Given the description of an element on the screen output the (x, y) to click on. 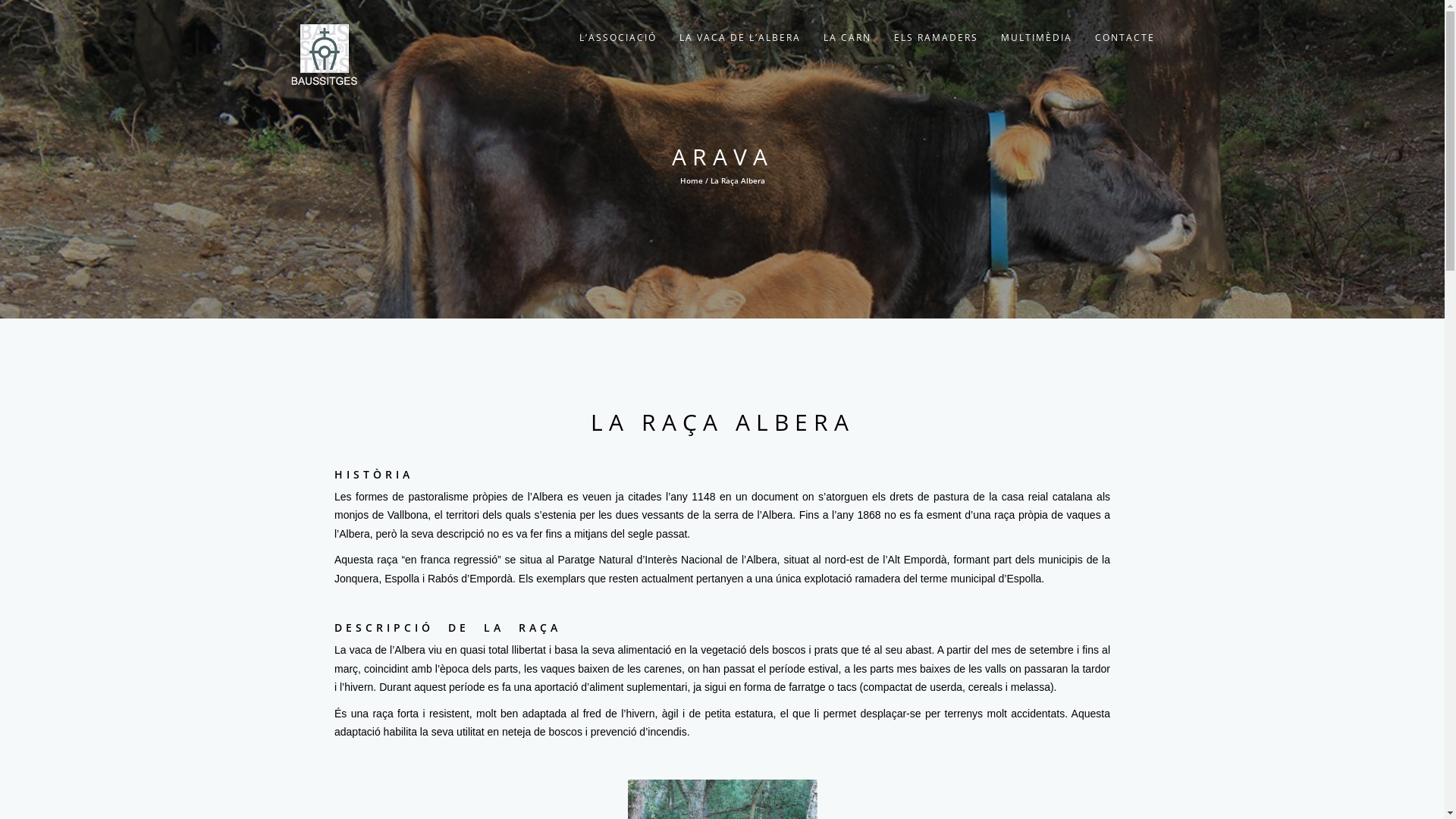
LA CARN Element type: text (846, 37)
CONTACTE Element type: text (1123, 37)
ELS RAMADERS Element type: text (935, 37)
ARAVA Element type: text (722, 156)
